Given the description of an element on the screen output the (x, y) to click on. 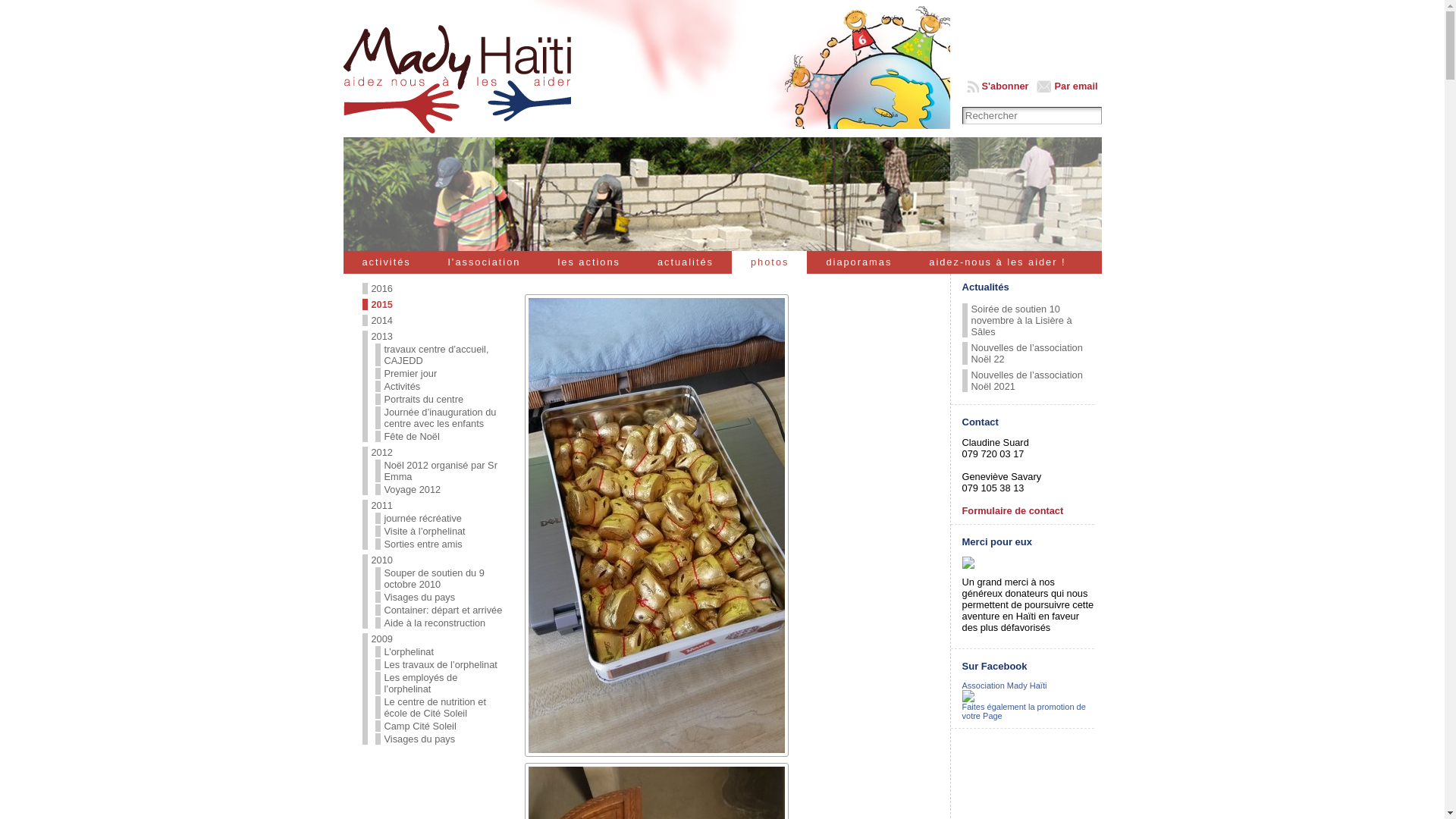
Visages du pays Element type: text (419, 596)
2011 Element type: text (381, 505)
2012 Element type: text (381, 452)
2015 Element type: text (381, 304)
les actions Element type: text (588, 266)
S'abonner Element type: text (997, 86)
  Element type: text (721, 194)
2016 Element type: text (381, 288)
Souper de soutien du 9 octobre 2010 Element type: text (433, 578)
2010 Element type: text (381, 559)
2009 Element type: text (381, 638)
Formulaire de contact Element type: text (1012, 510)
photos Element type: text (769, 266)
Visages du pays Element type: text (419, 738)
Voyage 2012 Element type: text (411, 489)
Sorties entre amis Element type: text (422, 543)
2013 Element type: text (381, 336)
Portraits du centre Element type: text (423, 398)
2014 Element type: text (381, 320)
Premier jour Element type: text (409, 373)
diaporamas Element type: text (858, 266)
Par email Element type: text (1067, 86)
